Given the description of an element on the screen output the (x, y) to click on. 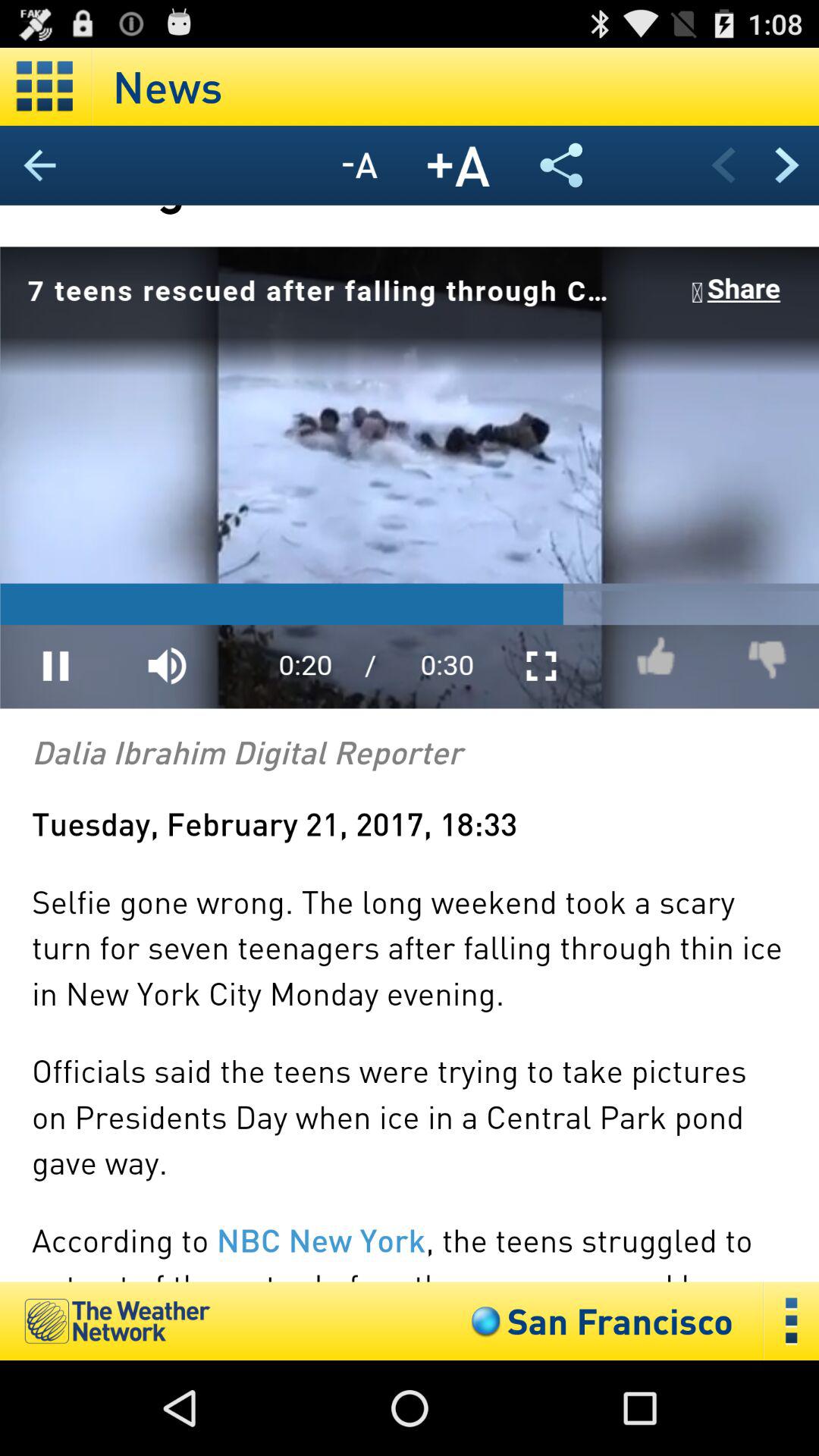
go next (787, 165)
